Given the description of an element on the screen output the (x, y) to click on. 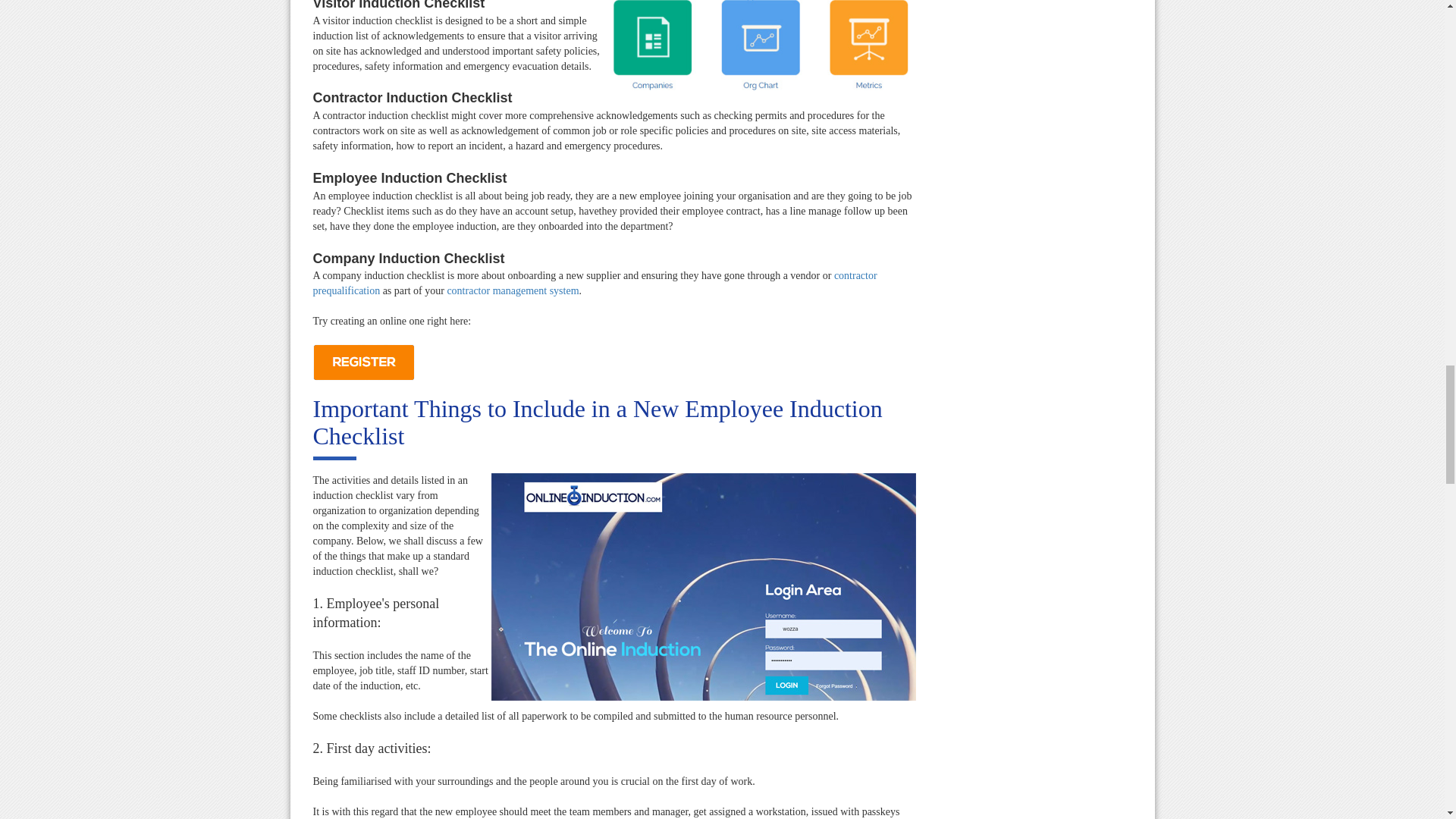
contractor prequalification (594, 283)
contractor management system (512, 290)
